Given the description of an element on the screen output the (x, y) to click on. 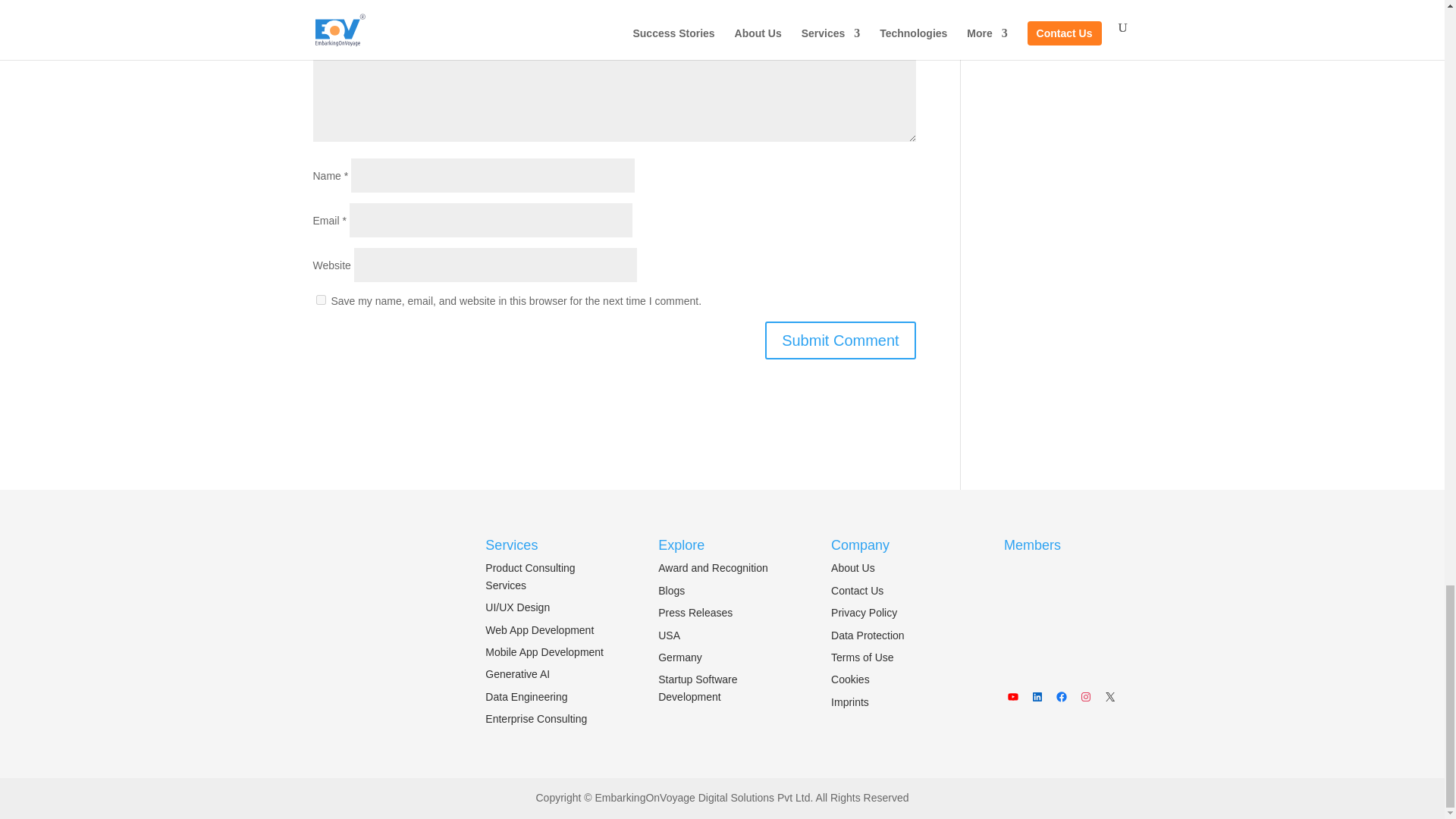
Submit Comment (840, 340)
yes (319, 299)
Submit Comment (840, 340)
